Given the description of an element on the screen output the (x, y) to click on. 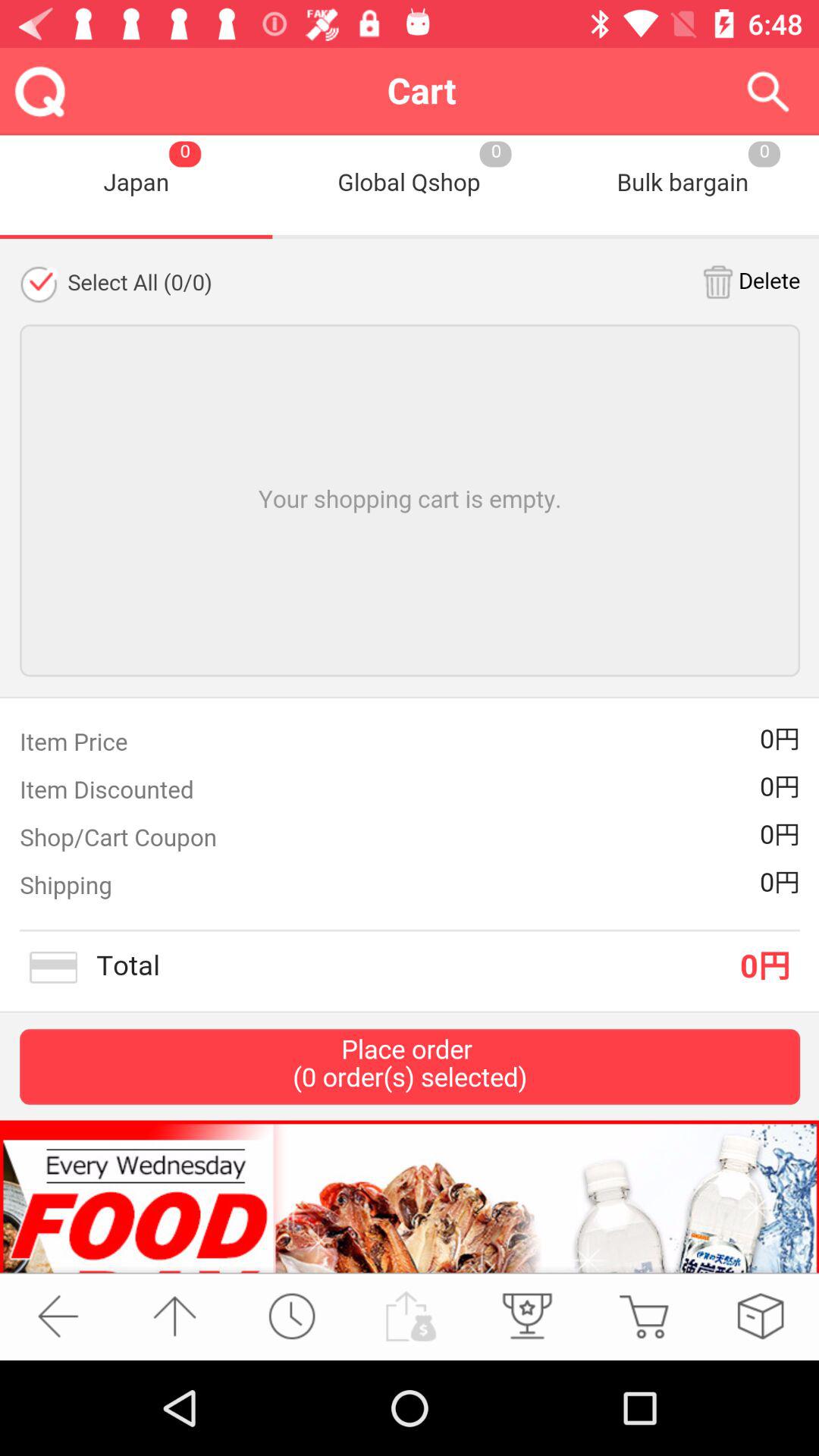
up (174, 1316)
